Given the description of an element on the screen output the (x, y) to click on. 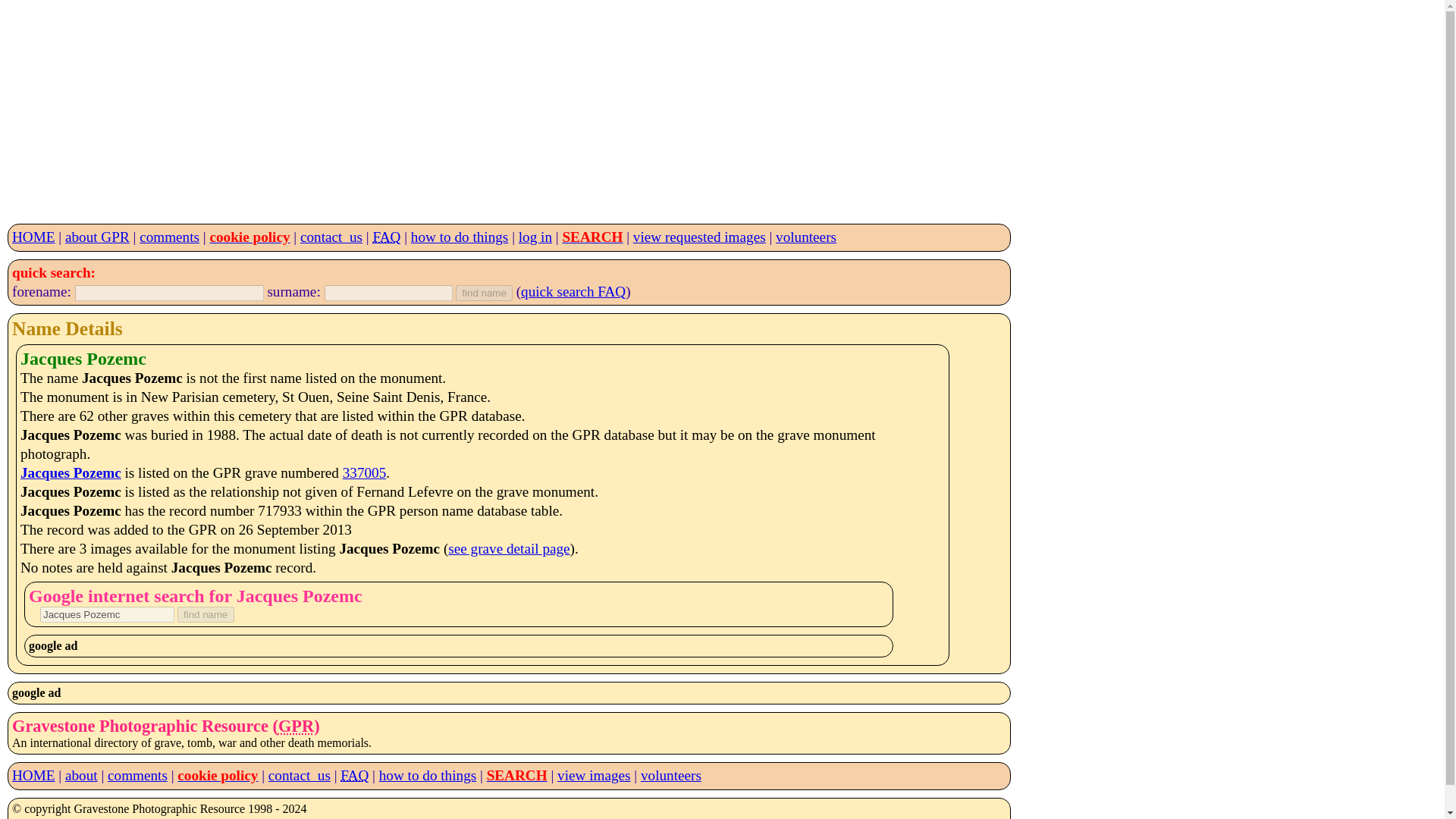
cookie policy (249, 236)
FAQ (354, 774)
log in (534, 236)
find name (205, 614)
SEARCH (516, 774)
Frequently Asked Questions (354, 774)
HOME (33, 774)
how to do things (459, 236)
Jacques Pozemc (70, 472)
view requested images (699, 236)
337005 (364, 472)
about (81, 774)
Gravestone Photographic Resource (296, 725)
SEARCH (592, 236)
find name (483, 293)
